Given the description of an element on the screen output the (x, y) to click on. 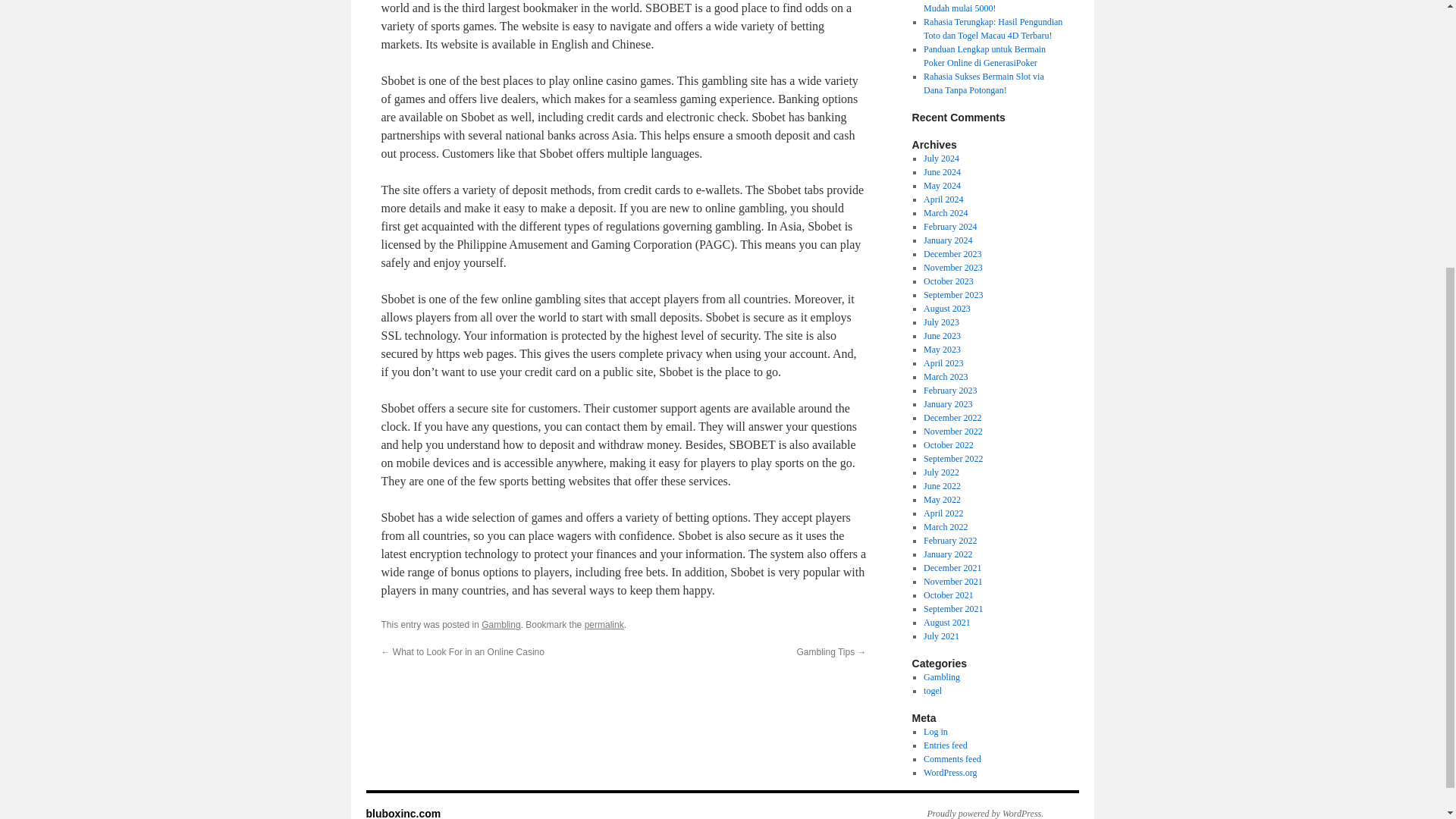
January 2023 (947, 403)
May 2024 (941, 185)
Permalink to SBOBET Review (604, 624)
December 2022 (952, 417)
February 2023 (949, 389)
April 2023 (942, 362)
March 2024 (945, 213)
May 2023 (941, 348)
August 2023 (947, 308)
February 2024 (949, 226)
Gambling (500, 624)
permalink (604, 624)
April 2024 (942, 199)
